Given the description of an element on the screen output the (x, y) to click on. 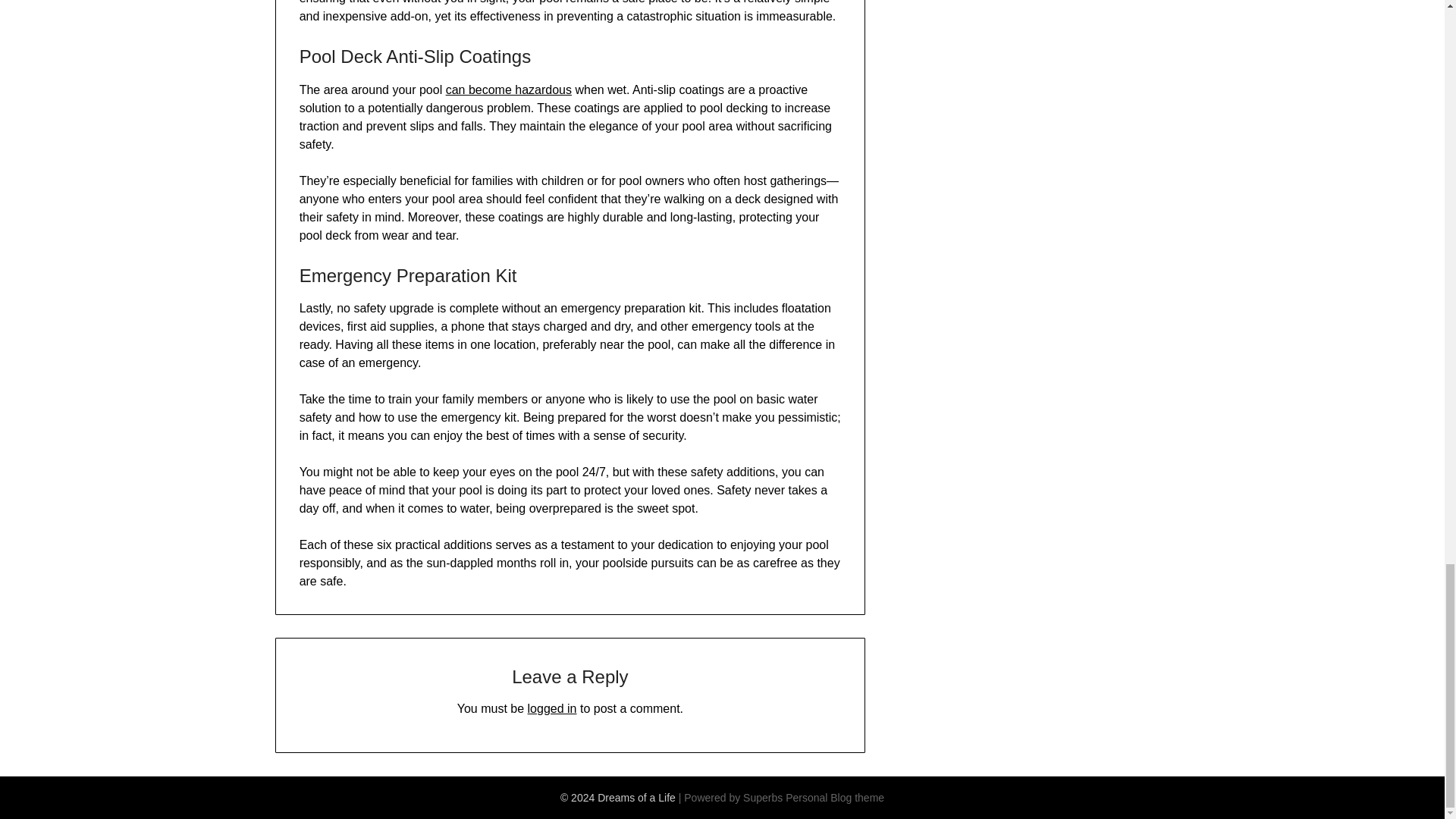
can become hazardous (508, 89)
Personal Blog theme (834, 797)
logged in (551, 707)
